Given the description of an element on the screen output the (x, y) to click on. 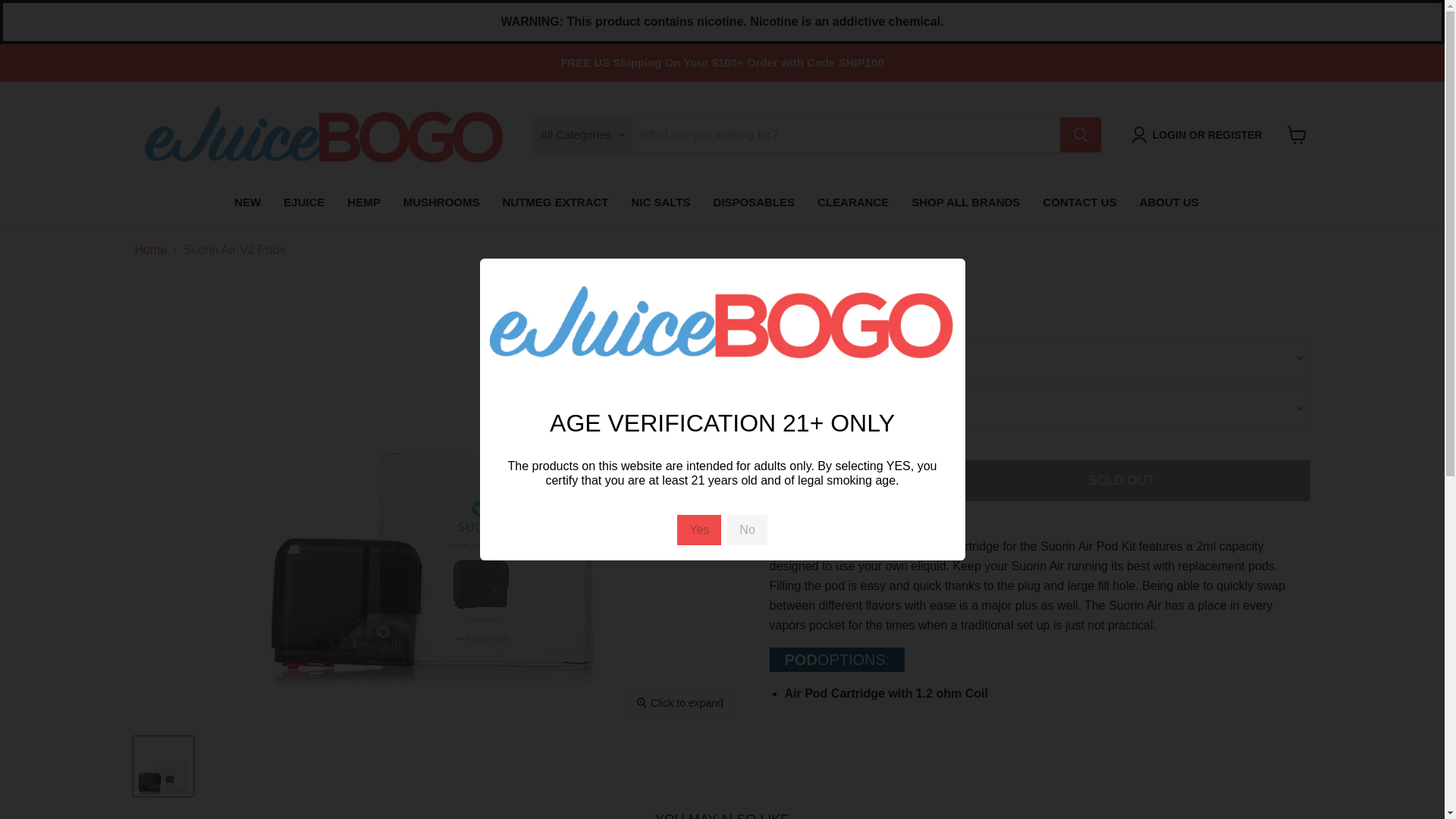
NUTMEG EXTRACT (555, 202)
ABOUT US (1168, 202)
Home (151, 250)
NEW (247, 202)
SHOP ALL BRANDS (964, 202)
CONTACT US (1078, 202)
CLEARANCE (852, 202)
LOGIN OR REGISTER (1199, 135)
EJUICE (304, 202)
2 (845, 480)
